Given the description of an element on the screen output the (x, y) to click on. 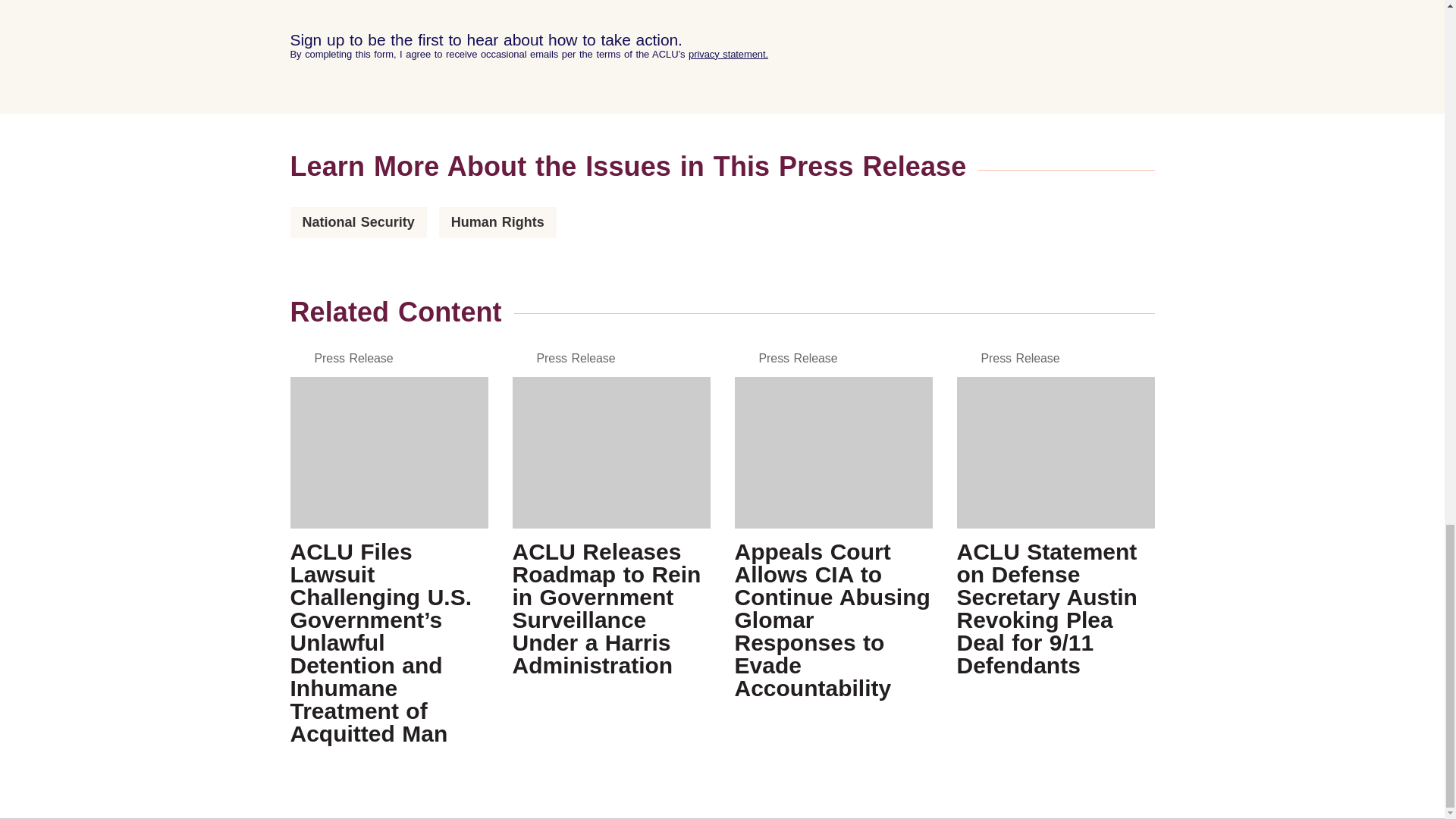
Human Rights (497, 222)
National Security (357, 222)
privacy statement. (728, 53)
